Given the description of an element on the screen output the (x, y) to click on. 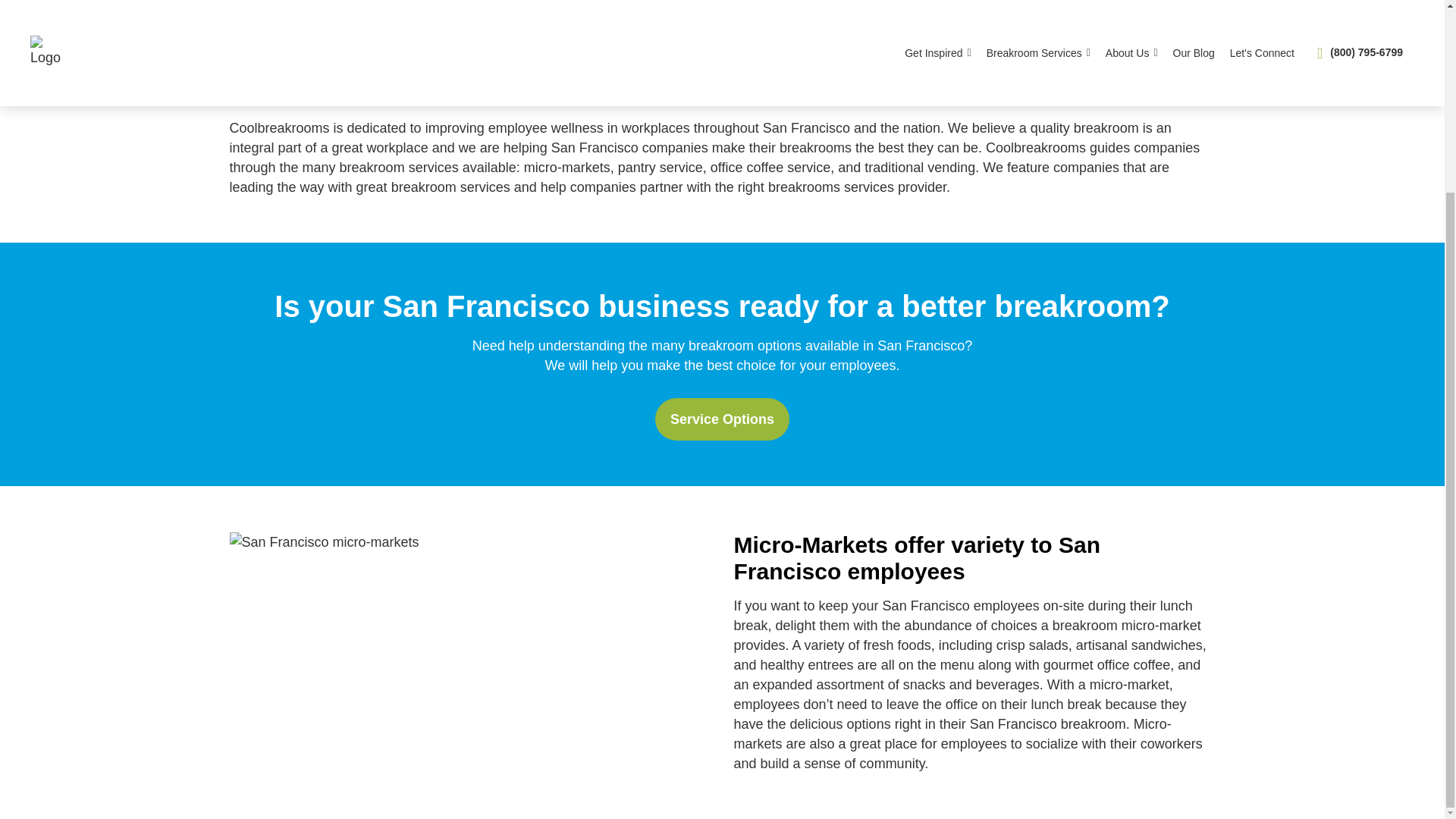
sf-micromarkets (323, 542)
